Given the description of an element on the screen output the (x, y) to click on. 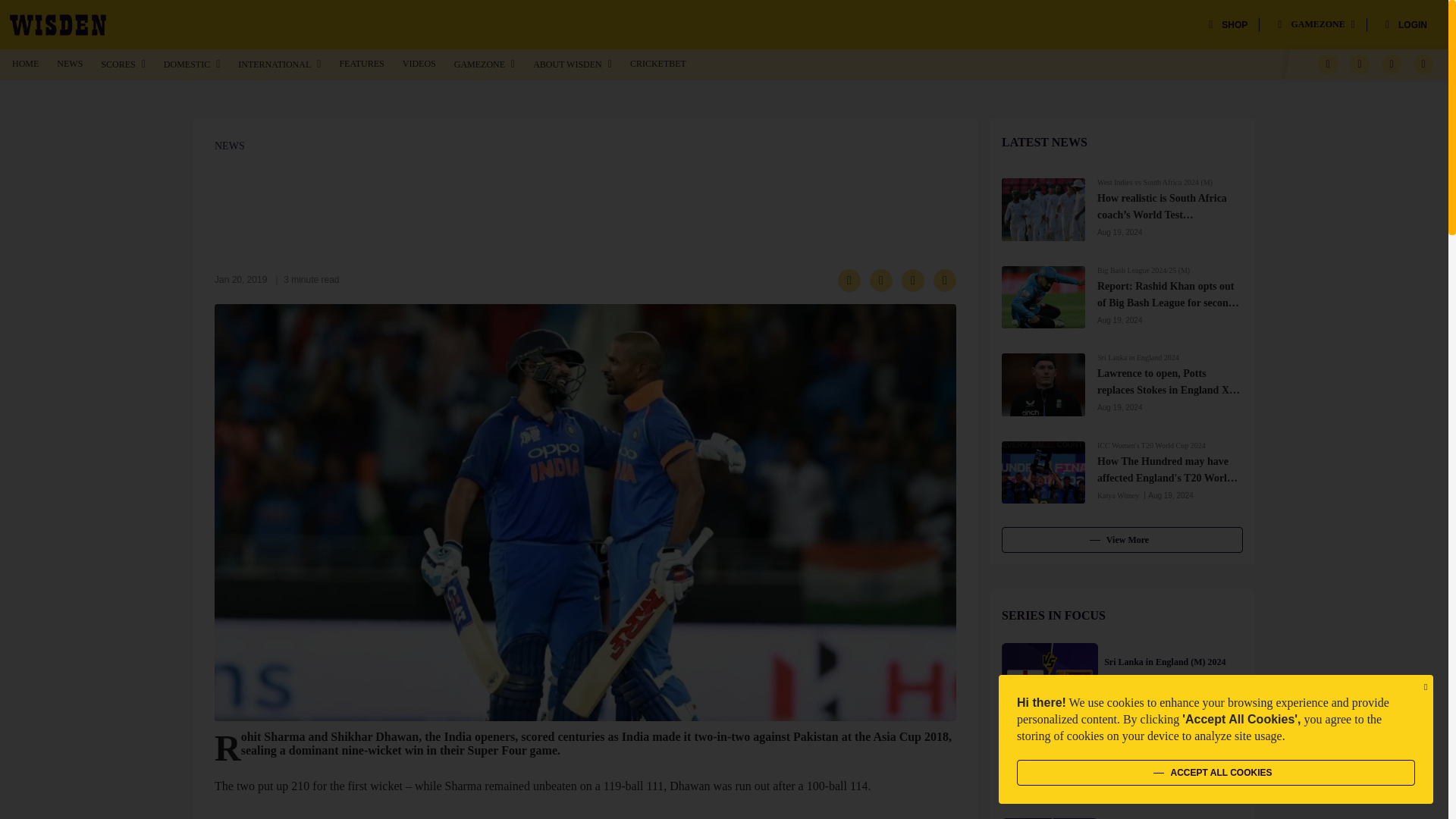
View More (1122, 539)
GAMEZONE (1316, 24)
Facebook (1327, 64)
GAMEZONE (484, 63)
VIDEOS (419, 62)
LOGIN (1406, 24)
INTERNATIONAL (279, 63)
FEATURES (361, 62)
HOME (25, 62)
CRICKETBET (657, 62)
